Given the description of an element on the screen output the (x, y) to click on. 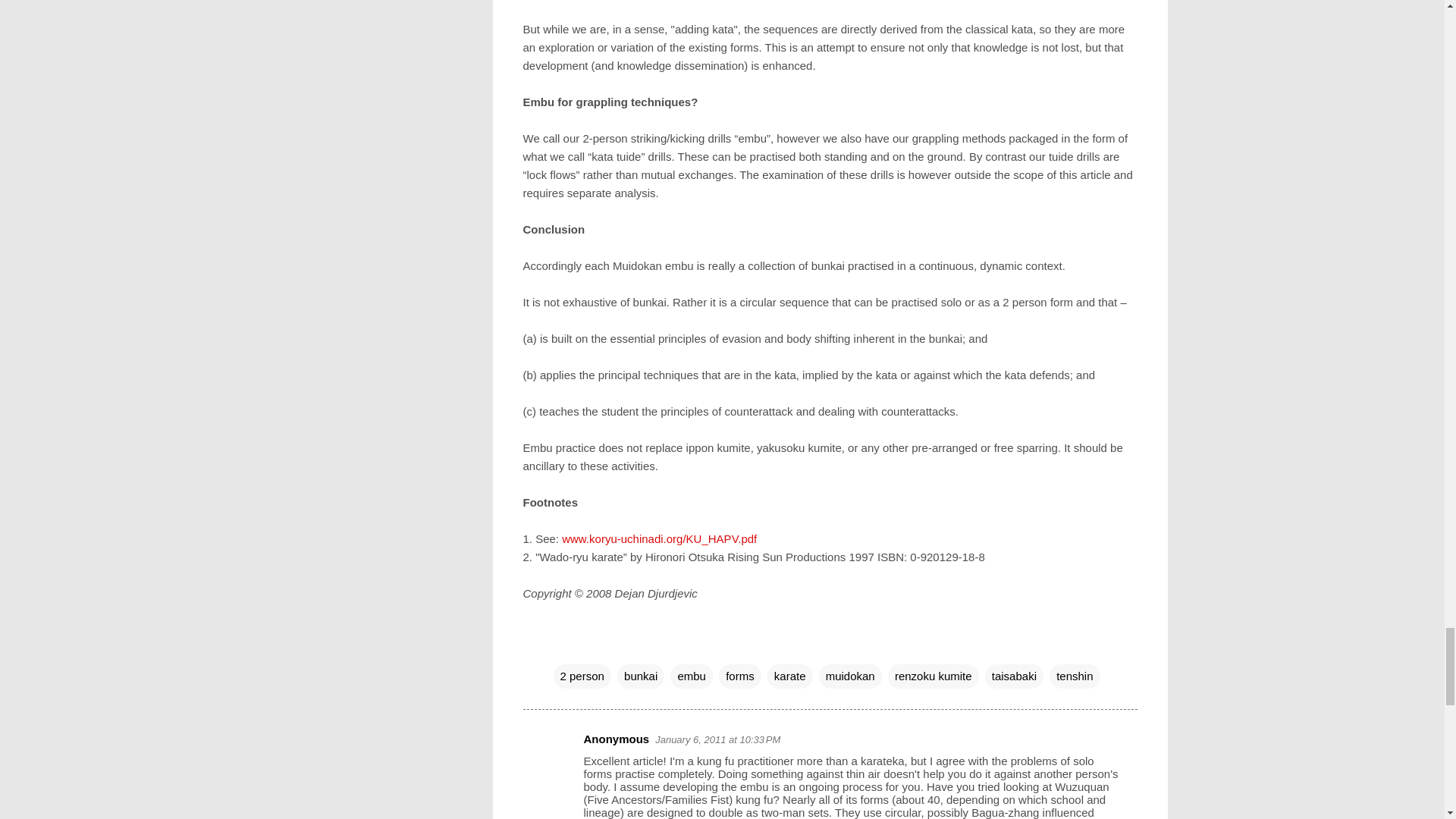
muidokan (850, 676)
embu (691, 676)
Email Post (562, 644)
tenshin (1074, 676)
2 person (582, 676)
forms (740, 676)
bunkai (640, 676)
renzoku kumite (933, 676)
taisabaki (1014, 676)
karate (789, 676)
